Given the description of an element on the screen output the (x, y) to click on. 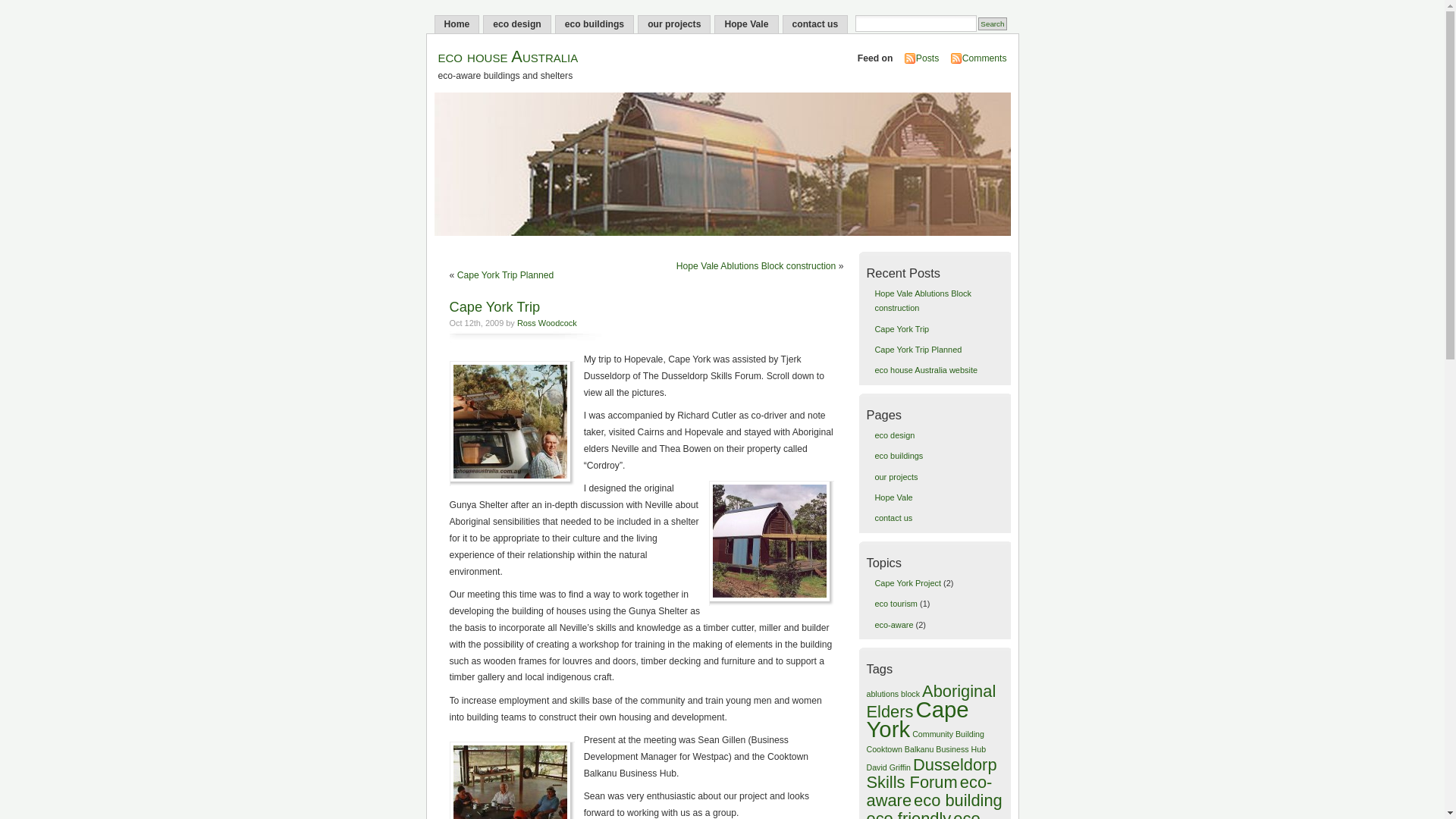
Hope Vale Element type: text (746, 24)
Cape York Trip Element type: text (493, 306)
Cooktown Balkanu Business Hub Element type: text (925, 748)
contact us Element type: text (815, 24)
Posts Element type: text (927, 58)
eco-aware Element type: text (893, 624)
Search Element type: text (992, 23)
Hope Vale Element type: text (893, 497)
eco tourism Element type: text (895, 603)
Dusseldorp Skills Forum Element type: text (931, 773)
Gunya Shelter Element type: hover (771, 542)
ross-woodcock Element type: hover (511, 423)
David Griffin Element type: text (888, 766)
Cape York Trip Planned Element type: text (505, 274)
eco buildings Element type: text (898, 455)
Hope Vale Ablutions Block construction Element type: text (922, 300)
our projects Element type: text (895, 476)
eco buildings Element type: text (594, 24)
eco house Australia website Element type: text (925, 369)
Ross Woodcock Element type: text (547, 322)
Cape York Project Element type: text (907, 582)
Comments Element type: text (984, 58)
Hope Vale Ablutions Block construction Element type: text (756, 265)
eco-aware Element type: text (928, 790)
Aboriginal Elders Element type: text (930, 701)
ablutions block Element type: text (892, 693)
Home Element type: text (456, 24)
our projects Element type: text (673, 24)
Cape York Trip Element type: text (901, 328)
eco building Element type: text (957, 799)
eco design Element type: text (894, 434)
Community Building Element type: text (948, 733)
eco house Australia Element type: text (508, 56)
eco design Element type: text (517, 24)
Cape York Trip Planned Element type: text (917, 349)
contact us Element type: text (893, 517)
Cape York Element type: text (917, 719)
